Given the description of an element on the screen output the (x, y) to click on. 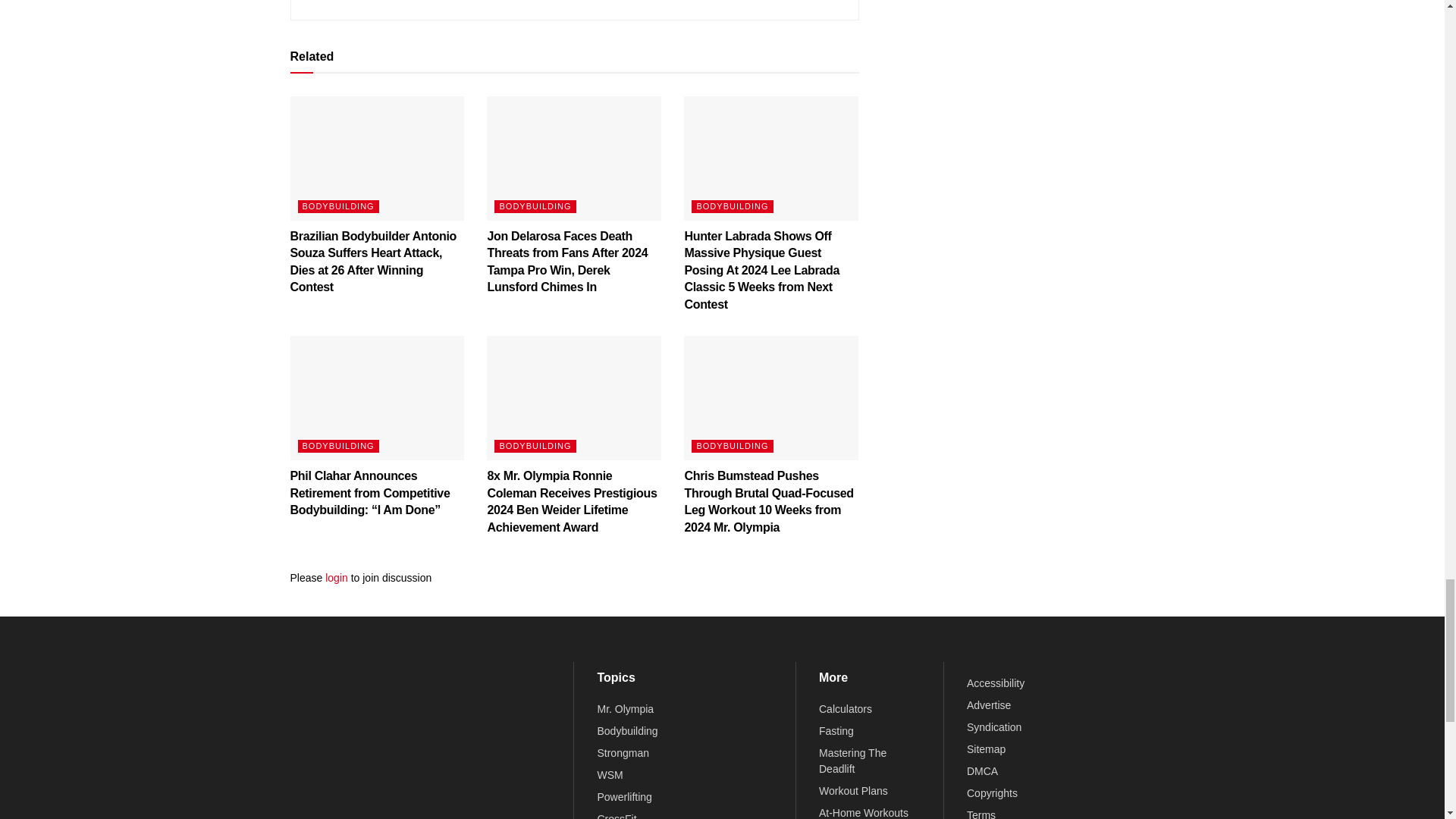
Accessibility Conformance Status (995, 683)
2019 Mr. Olympia News (624, 708)
